Given the description of an element on the screen output the (x, y) to click on. 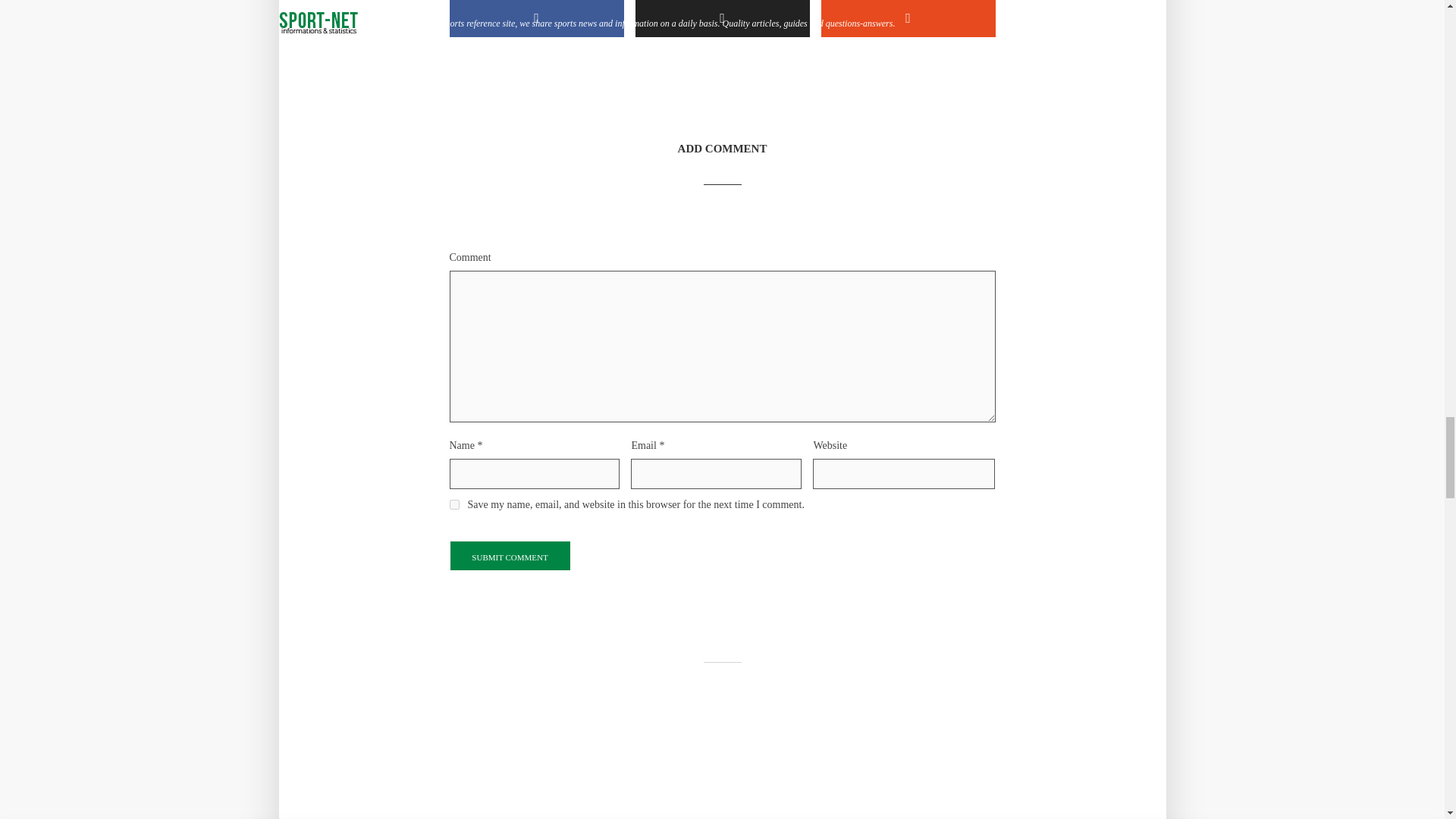
Submit Comment (509, 555)
yes (453, 504)
Submit Comment (509, 555)
